Given the description of an element on the screen output the (x, y) to click on. 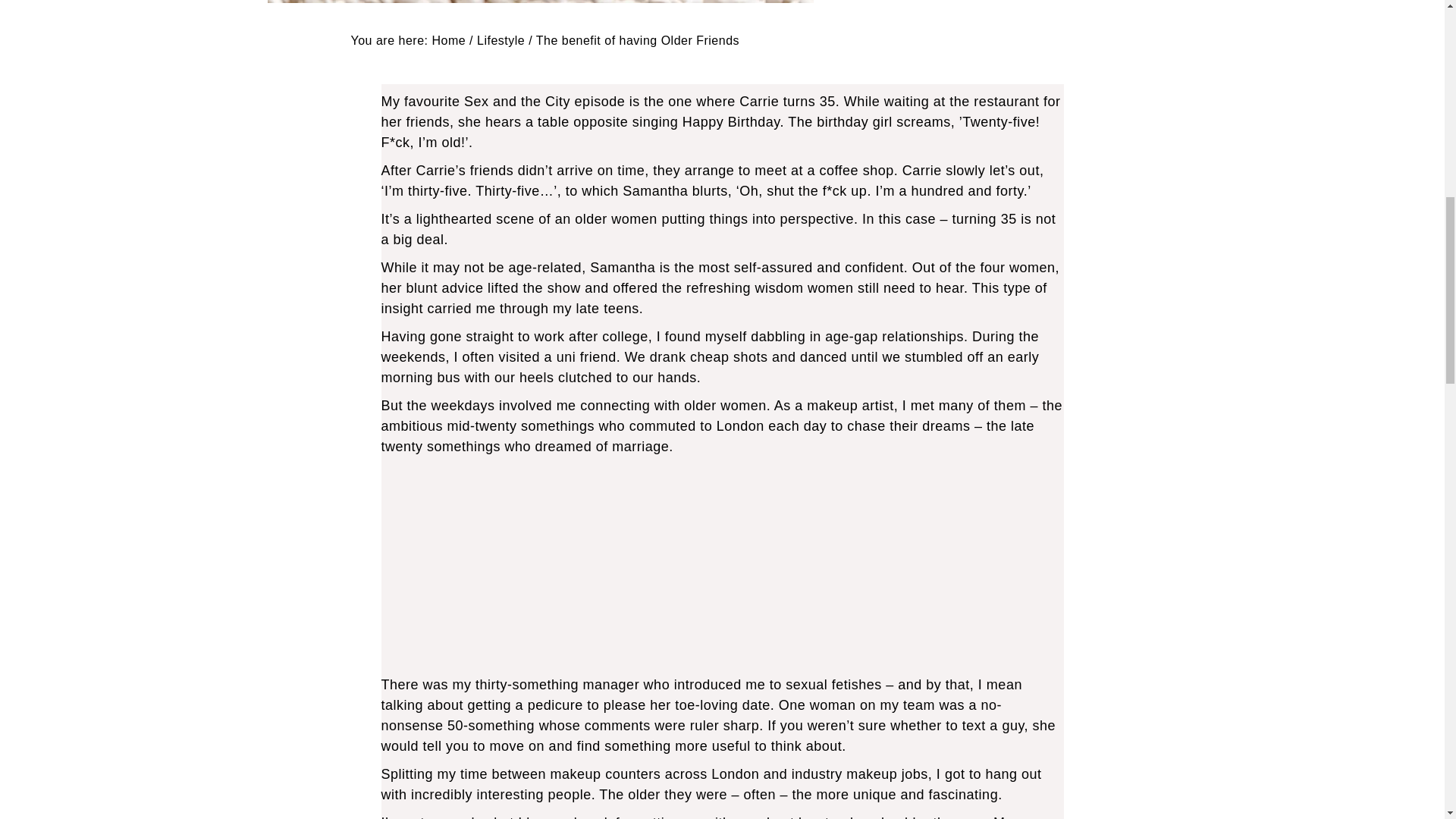
Lifestyle (500, 40)
Home (447, 40)
